Given the description of an element on the screen output the (x, y) to click on. 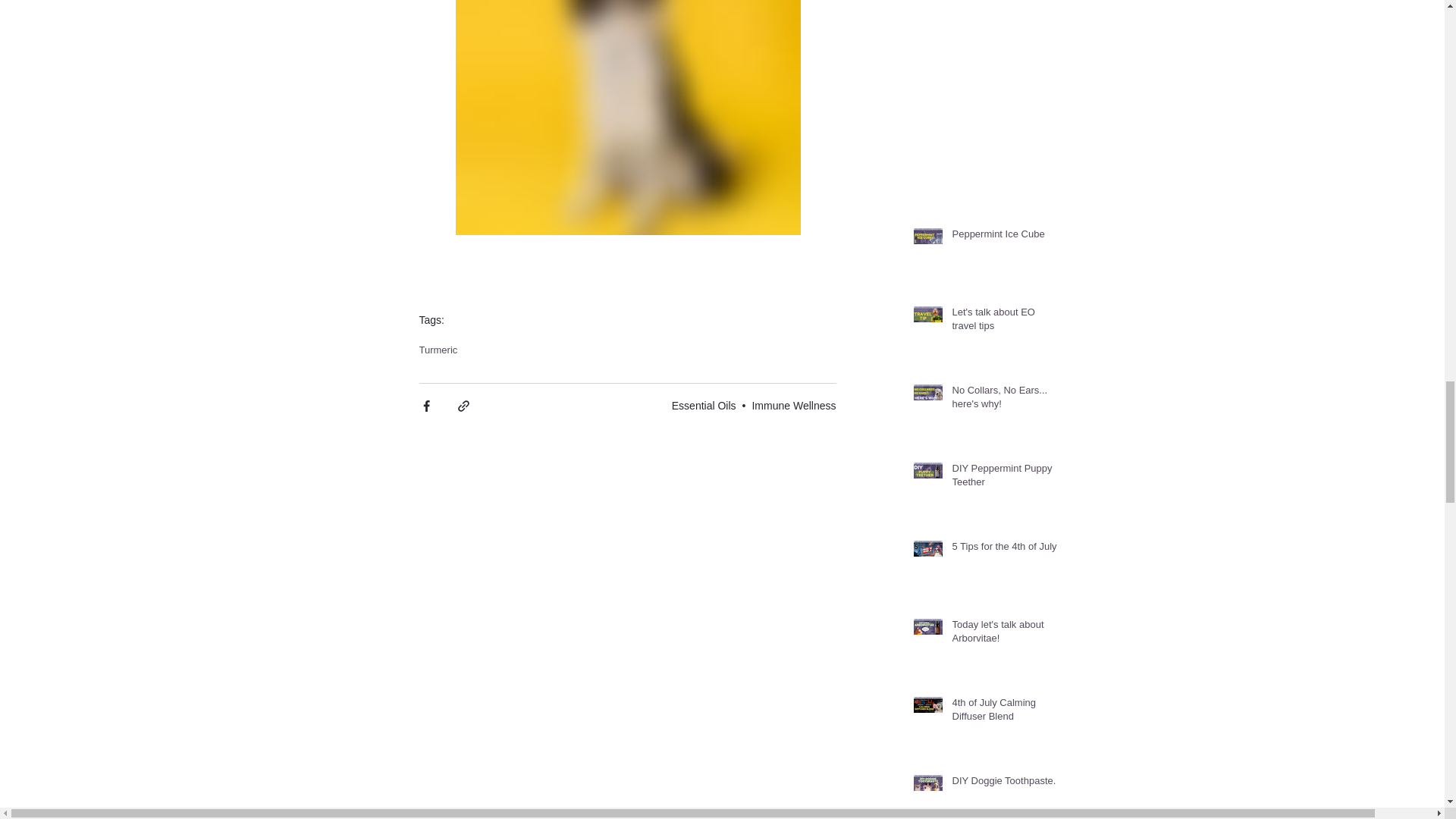
Turmeric (438, 349)
Essential Oils (703, 405)
Immune Wellness (793, 405)
